Given the description of an element on the screen output the (x, y) to click on. 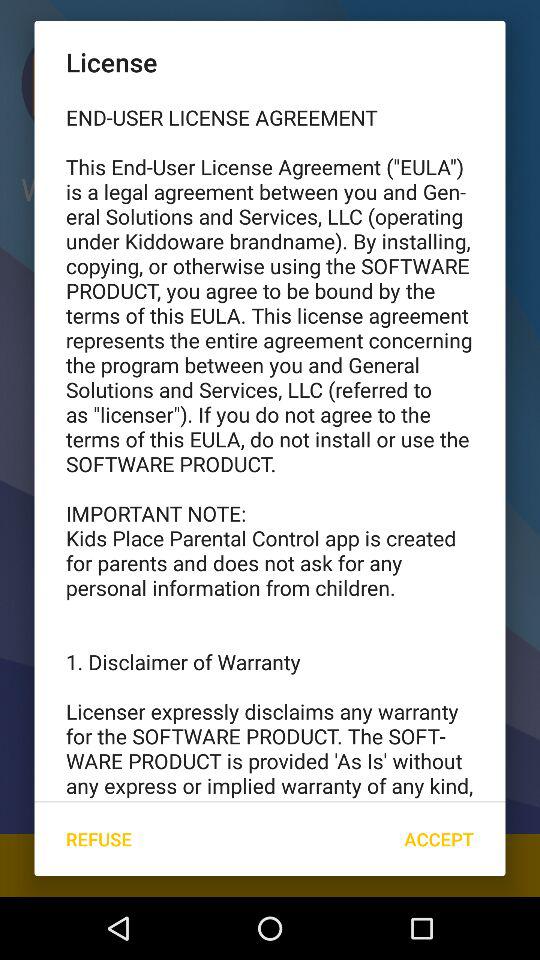
tap the item to the right of refuse (438, 838)
